Given the description of an element on the screen output the (x, y) to click on. 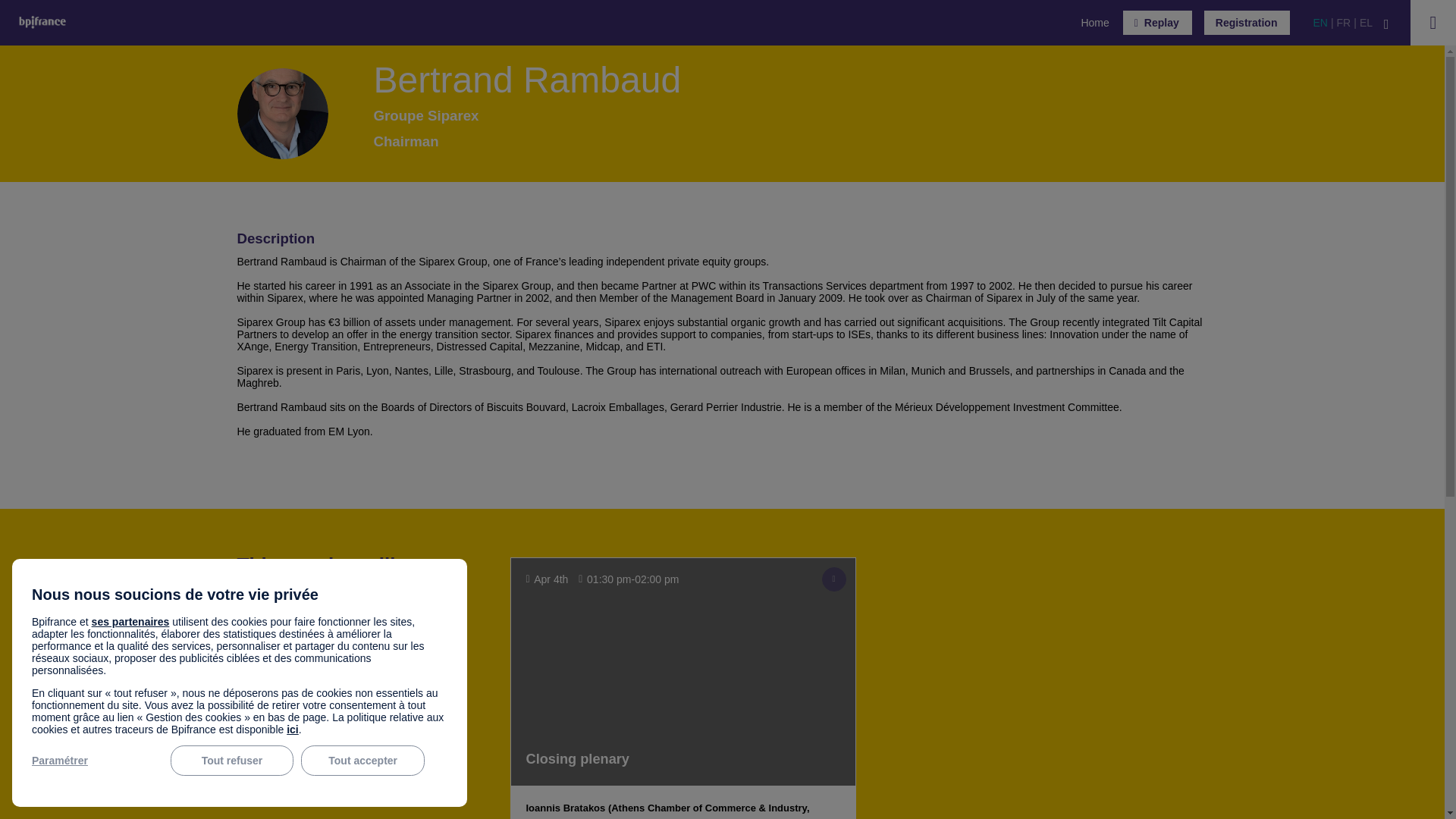
ses partenaires (130, 621)
ici (292, 729)
All sessions (278, 671)
Tout refuser (232, 760)
Registration (1247, 22)
Tout accepter (363, 760)
Tout refuser (232, 760)
Replay (1157, 22)
Tout accepter (363, 760)
Evaluate (833, 579)
